Given the description of an element on the screen output the (x, y) to click on. 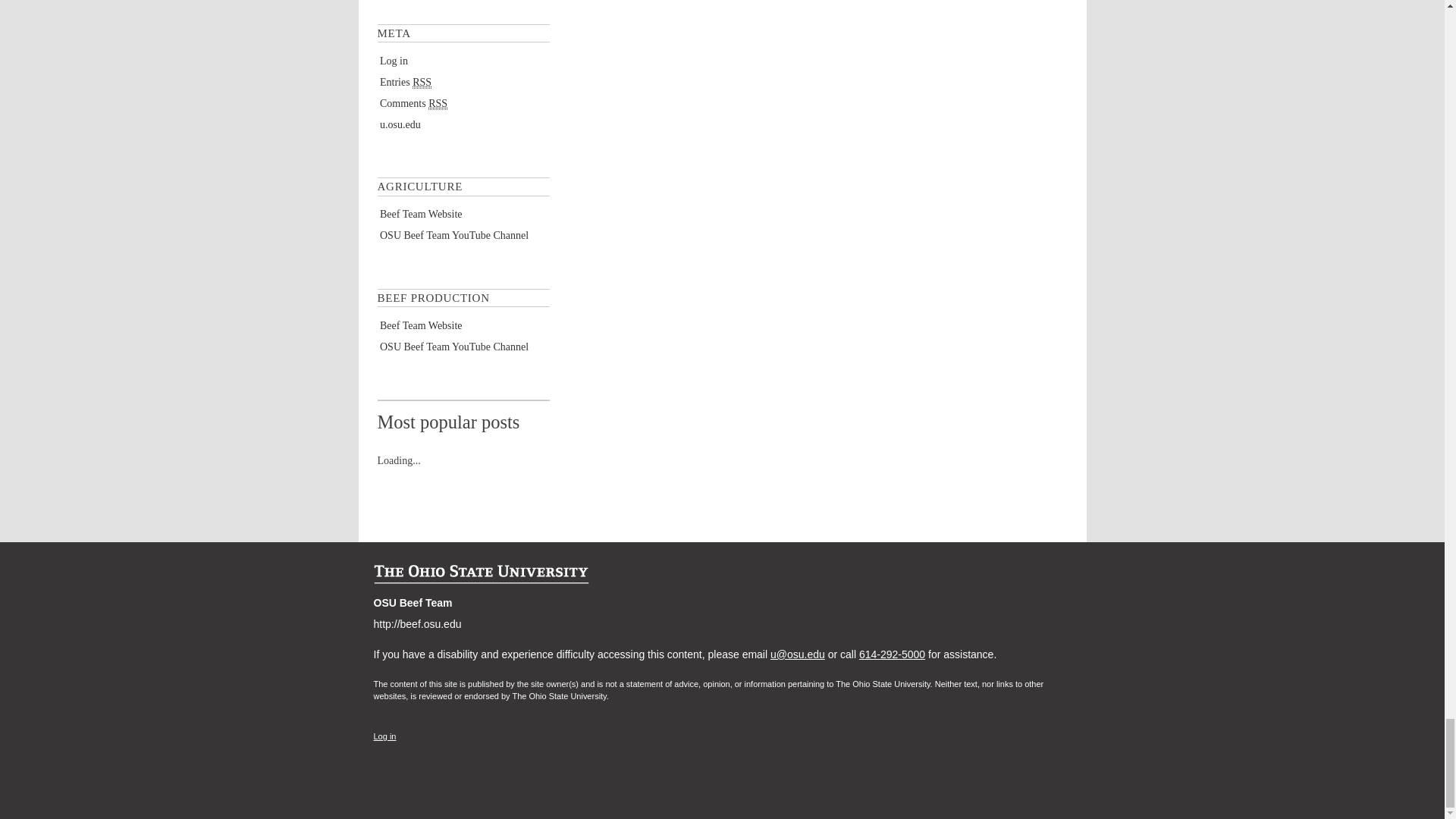
Powered by u.osu.edu (400, 124)
Really Simple Syndication (421, 82)
Resources for beef cattle producers (421, 214)
Really Simple Syndication (437, 103)
Videos for beef cattle producers (454, 235)
The latest comments to all posts in RSS (413, 103)
Syndicate this site using RSS 2.0 (405, 82)
